Given the description of an element on the screen output the (x, y) to click on. 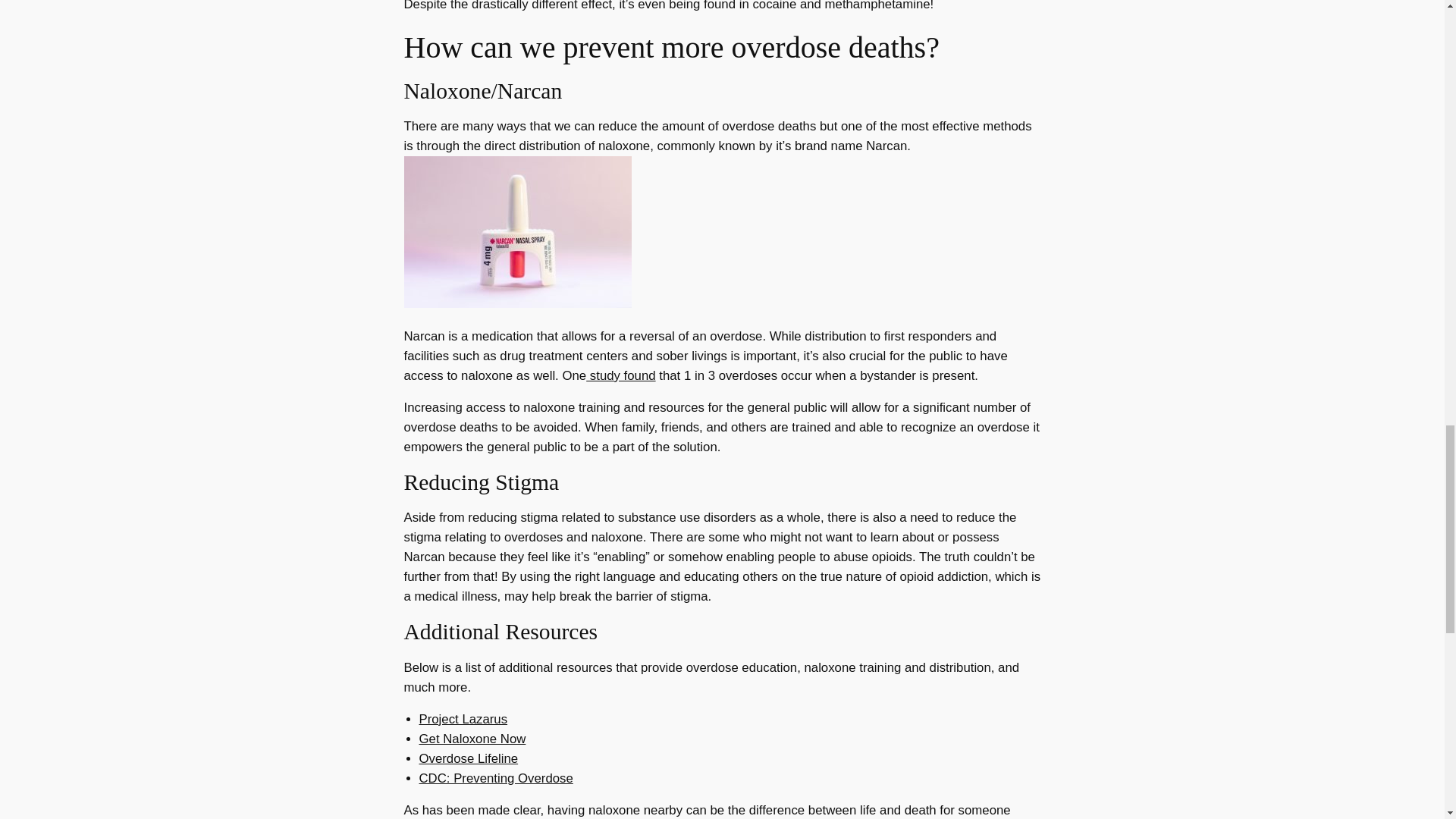
Overdose Lifeline (468, 758)
Project Lazarus (462, 718)
study found (620, 375)
CDC: Preventing Overdose (495, 778)
Get Naloxone Now (472, 739)
